Given the description of an element on the screen output the (x, y) to click on. 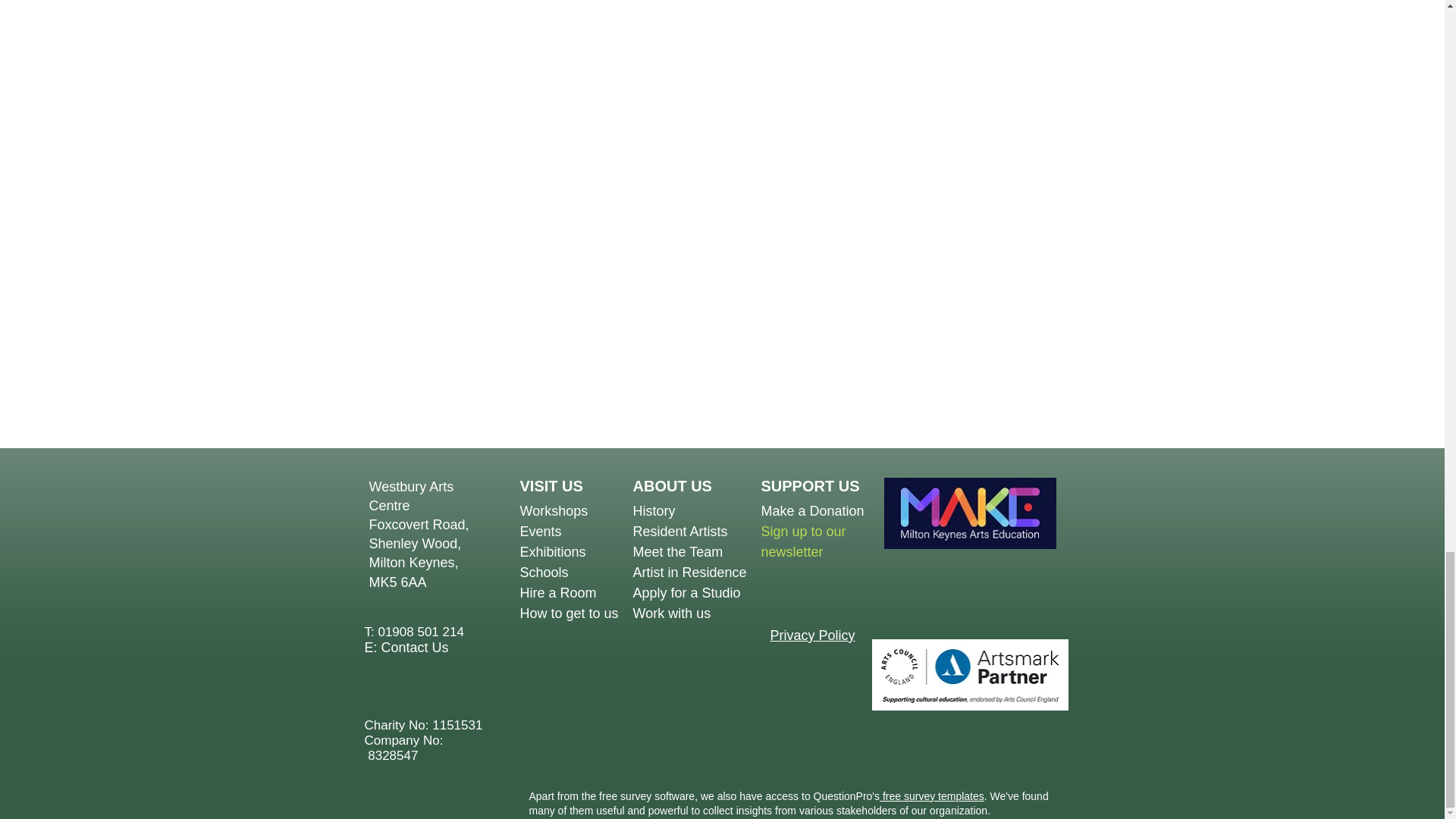
Artist in Residence (688, 572)
How to get to us (568, 613)
Exhibitions (552, 551)
Apply for a Studio (685, 592)
Work with us (670, 613)
VISIT US (551, 485)
Schools (544, 572)
Hire a Room (557, 592)
History (653, 510)
Workshops (553, 510)
E: Contact Us (406, 647)
SUPPORT US (810, 485)
Events (540, 531)
ABOUT US (671, 485)
